Given the description of an element on the screen output the (x, y) to click on. 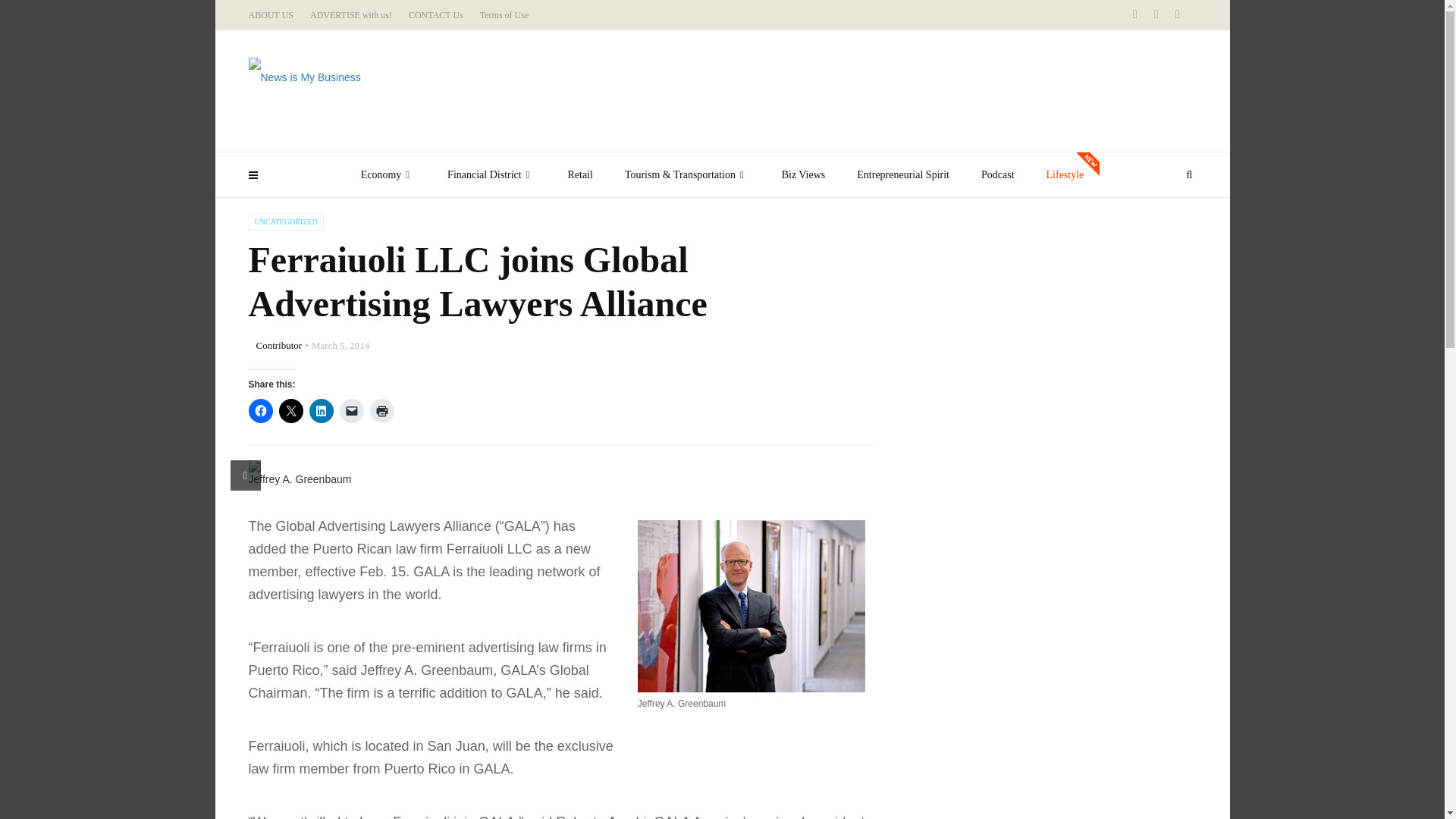
Entrepreneurial Spirit (903, 174)
3rd party ad content (920, 90)
Click to share on X (290, 410)
CONTACT Us (436, 15)
Click to email a link to a friend (351, 410)
Terms of Use (504, 15)
ADVERTISE with us! (350, 15)
Retail (579, 174)
Podcast (997, 174)
Biz Views (803, 174)
Financial District (490, 174)
Click to share on Facebook (260, 410)
Click to share on LinkedIn (320, 410)
Economy (387, 174)
Click to print (381, 410)
